Given the description of an element on the screen output the (x, y) to click on. 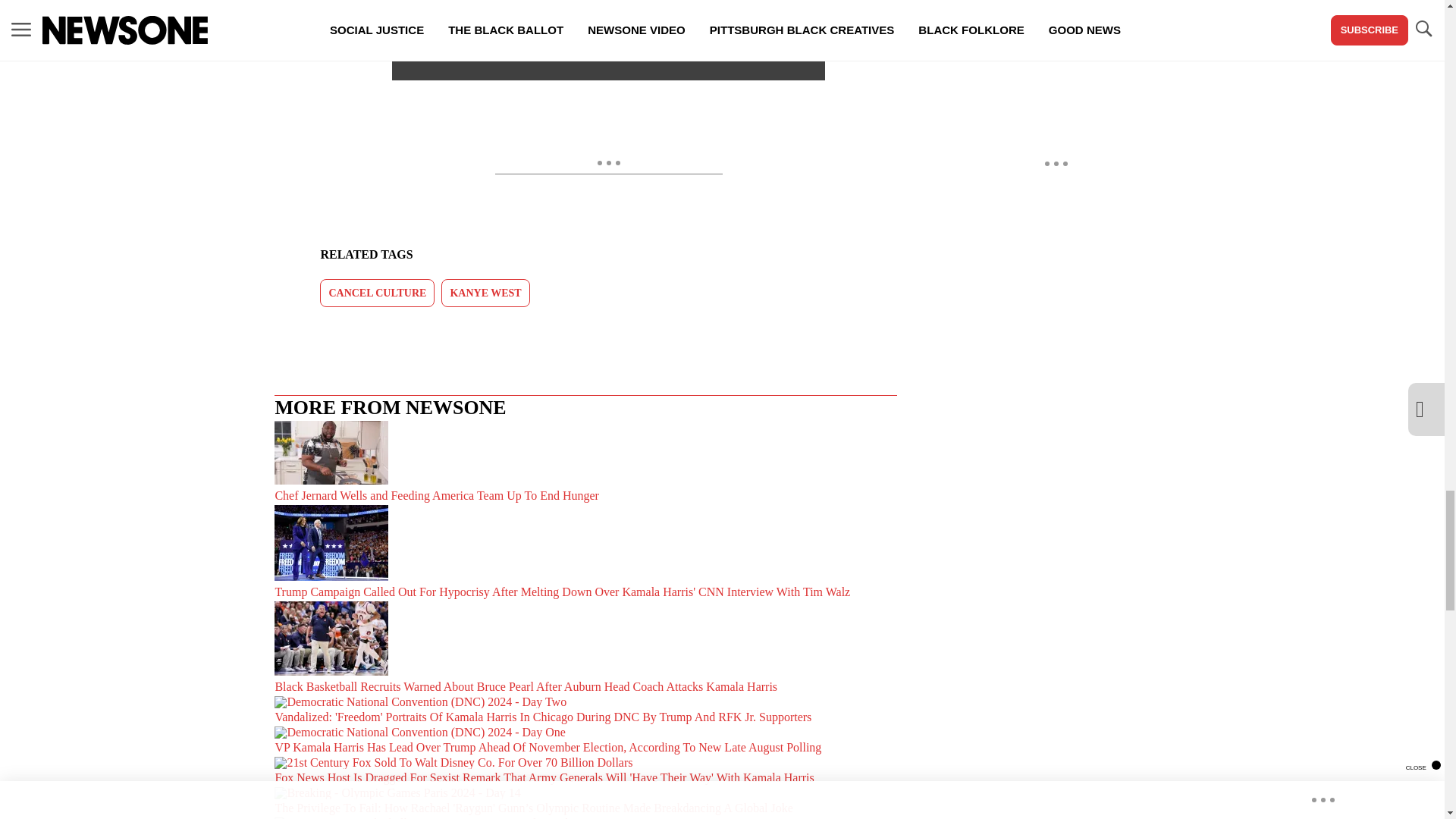
CANCEL CULTURE (376, 293)
KANYE WEST (485, 293)
Chef Jernard Wells and Feeding America Team Up To End Hunger (585, 462)
